Given the description of an element on the screen output the (x, y) to click on. 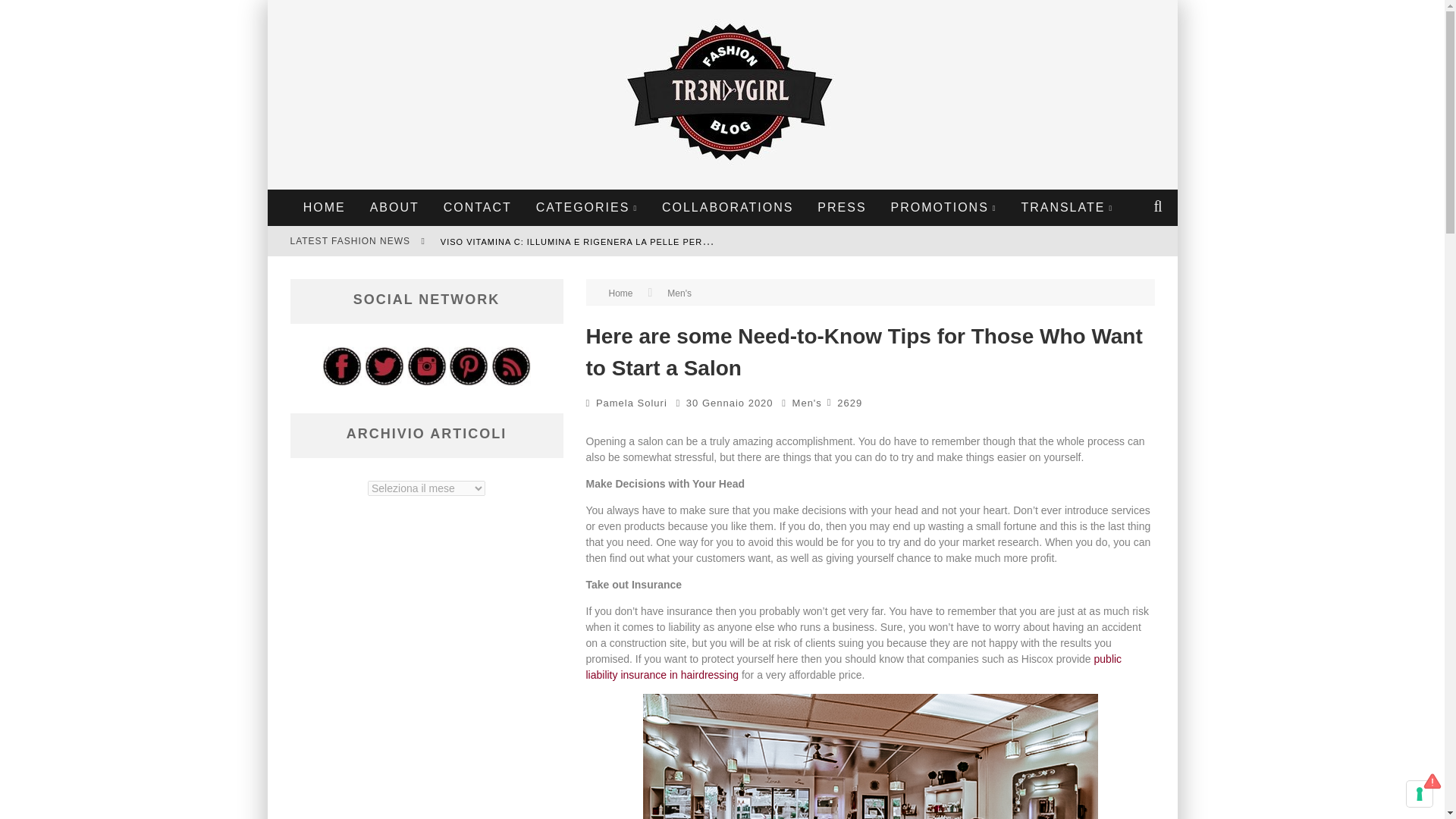
collaborazioni blog (727, 207)
categorie tr3ndygirl (586, 207)
contatto tr3ndygirl (477, 207)
